Given the description of an element on the screen output the (x, y) to click on. 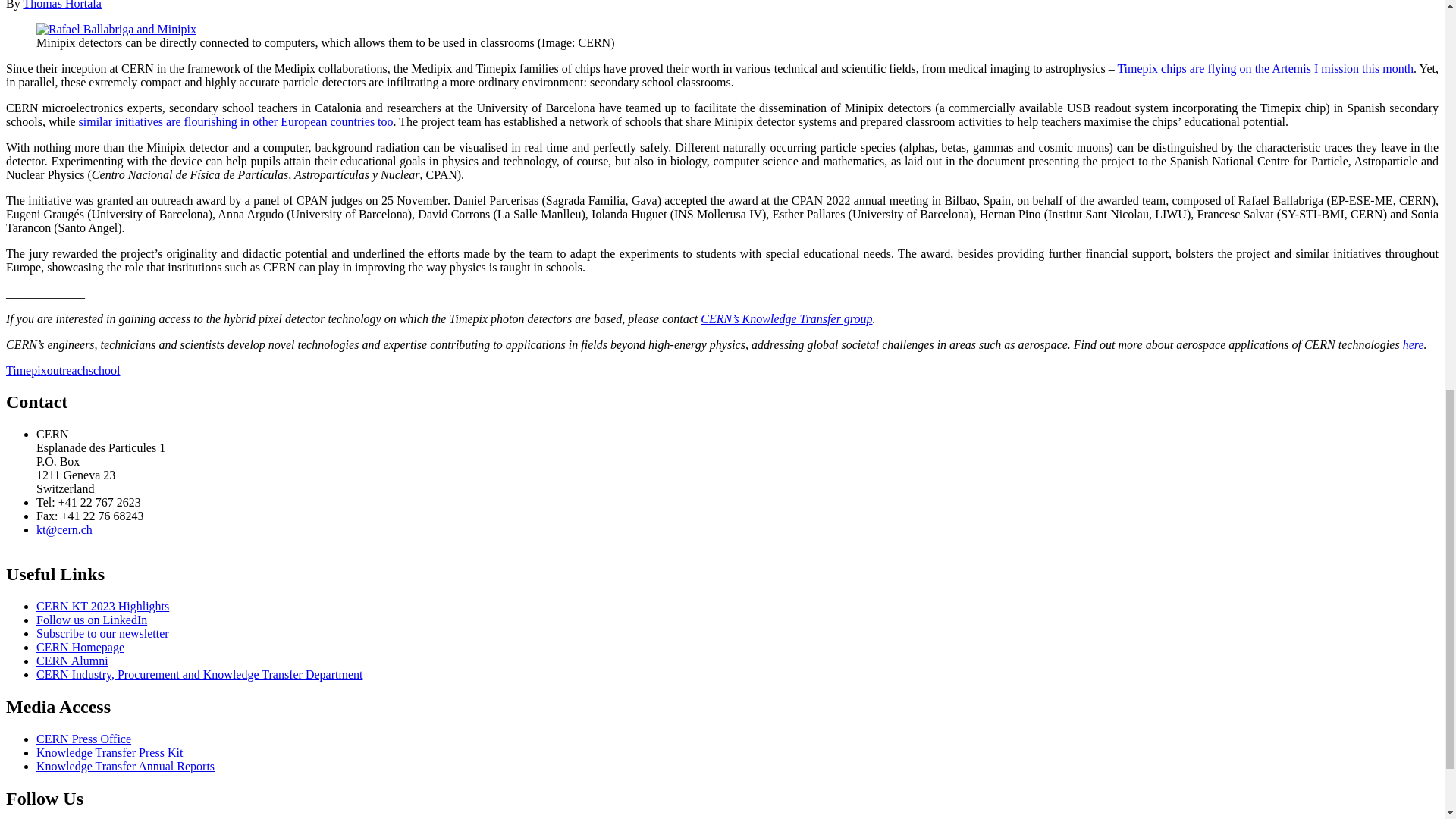
View on CDS (116, 29)
The High-Energy Network (71, 660)
home.cern (79, 646)
